Given the description of an element on the screen output the (x, y) to click on. 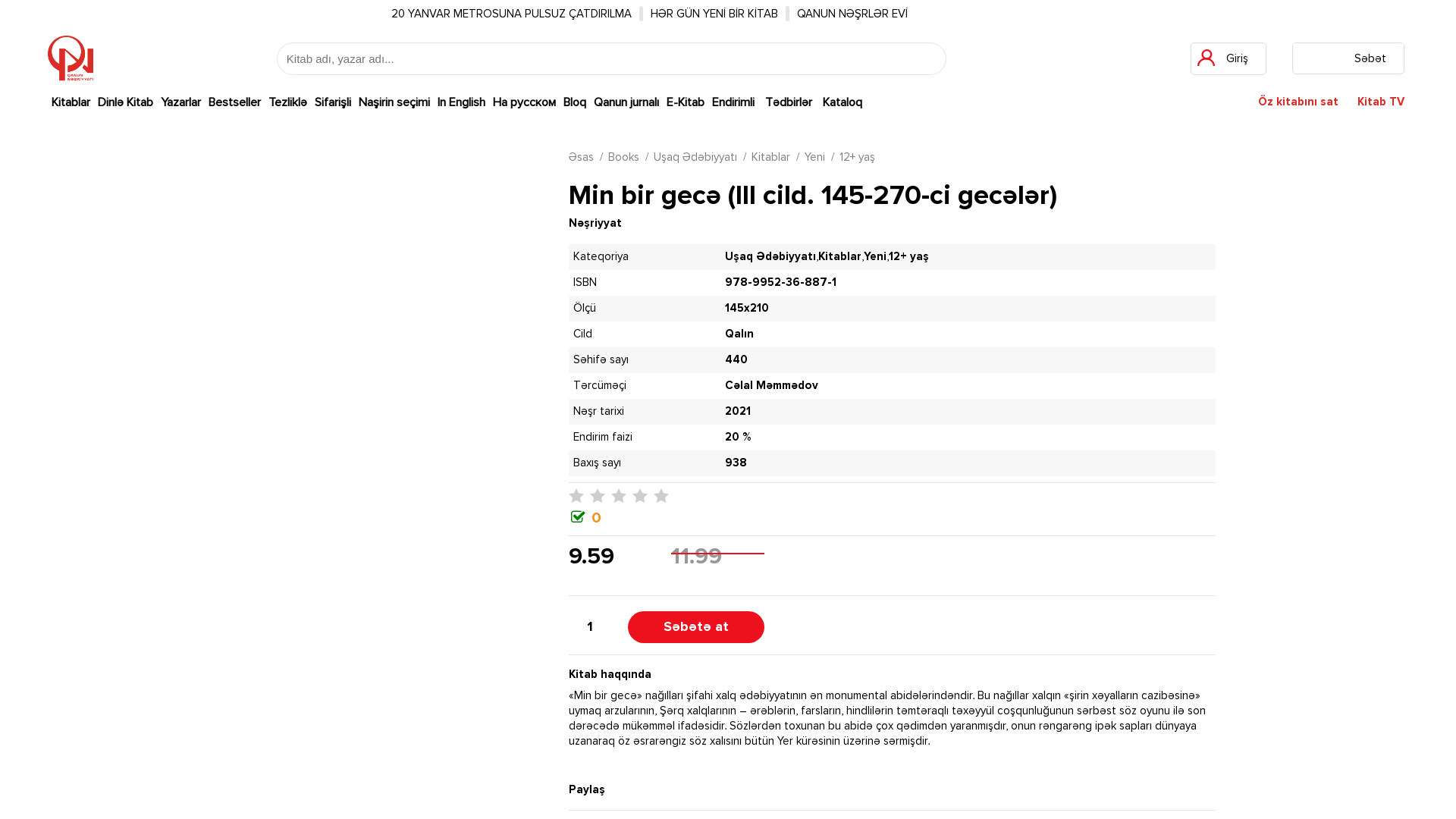
Kitablar Element type: text (70, 102)
2021 Element type: text (737, 411)
Kitab TV Element type: text (1380, 102)
E-Kitab Element type: text (685, 102)
20 % Element type: text (737, 437)
Bestseller Element type: text (234, 102)
978-9952-36-887-1 Element type: text (780, 282)
Qanun.Az | Kitab | Kitablar  Element type: hover (70, 58)
Yeni Element type: text (874, 256)
In English Element type: text (461, 102)
Yeni Element type: text (814, 157)
Kitablar Element type: text (770, 157)
Yazarlar Element type: text (180, 102)
145x210 Element type: text (746, 308)
440 Element type: text (735, 359)
Books Element type: text (623, 157)
Endirimli Element type: text (733, 102)
938 Element type: text (735, 463)
Kataloq Element type: text (842, 102)
Bloq Element type: text (574, 102)
Kitablar Element type: text (839, 256)
